Given the description of an element on the screen output the (x, y) to click on. 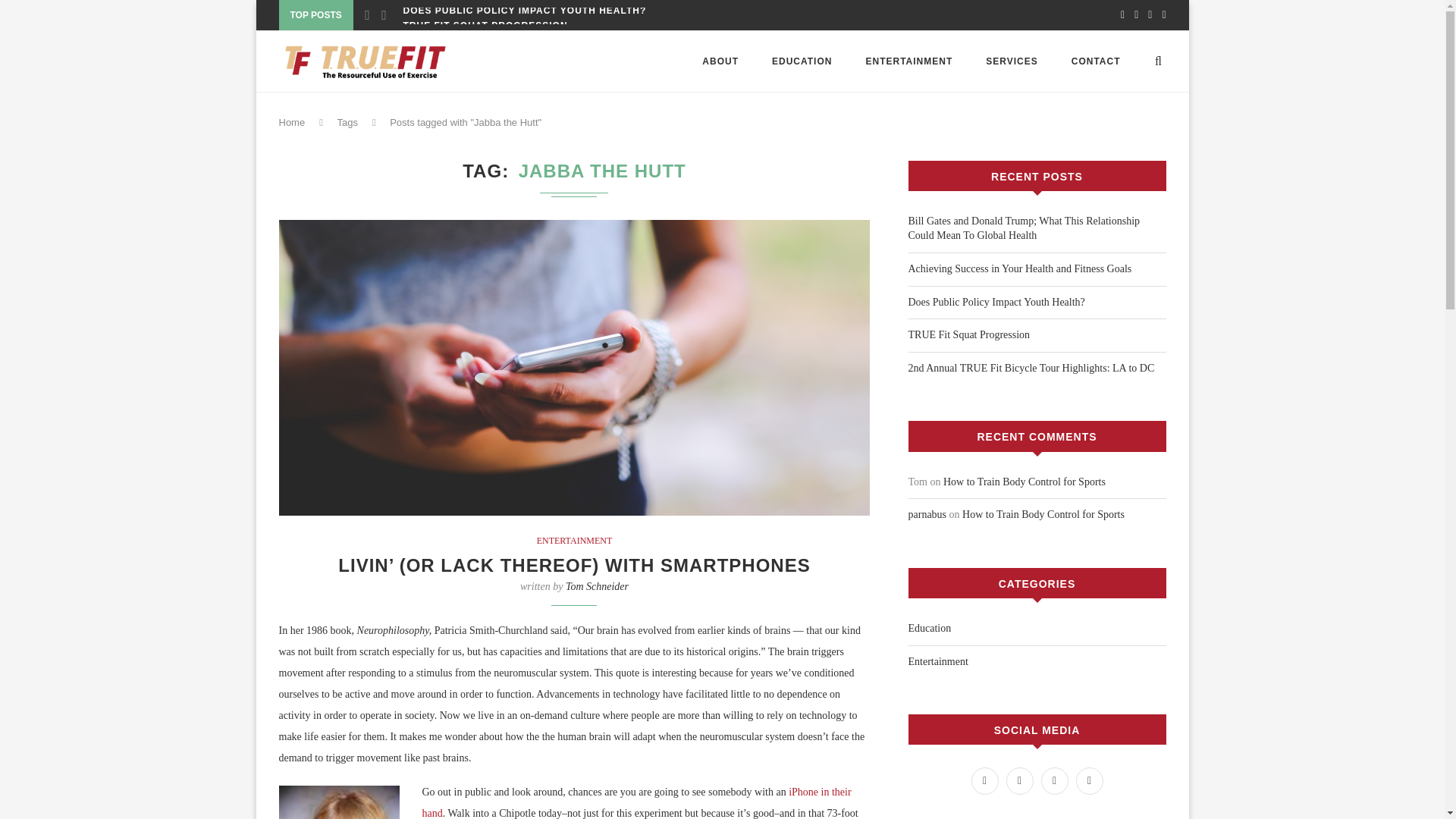
ENTERTAINMENT (908, 61)
View all posts in Entertainment (574, 540)
ENTERTAINMENT (574, 540)
EDUCATION (801, 61)
TRUE FIT SQUAT PROGRESSION (485, 25)
DOES PUBLIC POLICY IMPACT YOUTH HEALTH? (524, 10)
Home (292, 122)
